Given the description of an element on the screen output the (x, y) to click on. 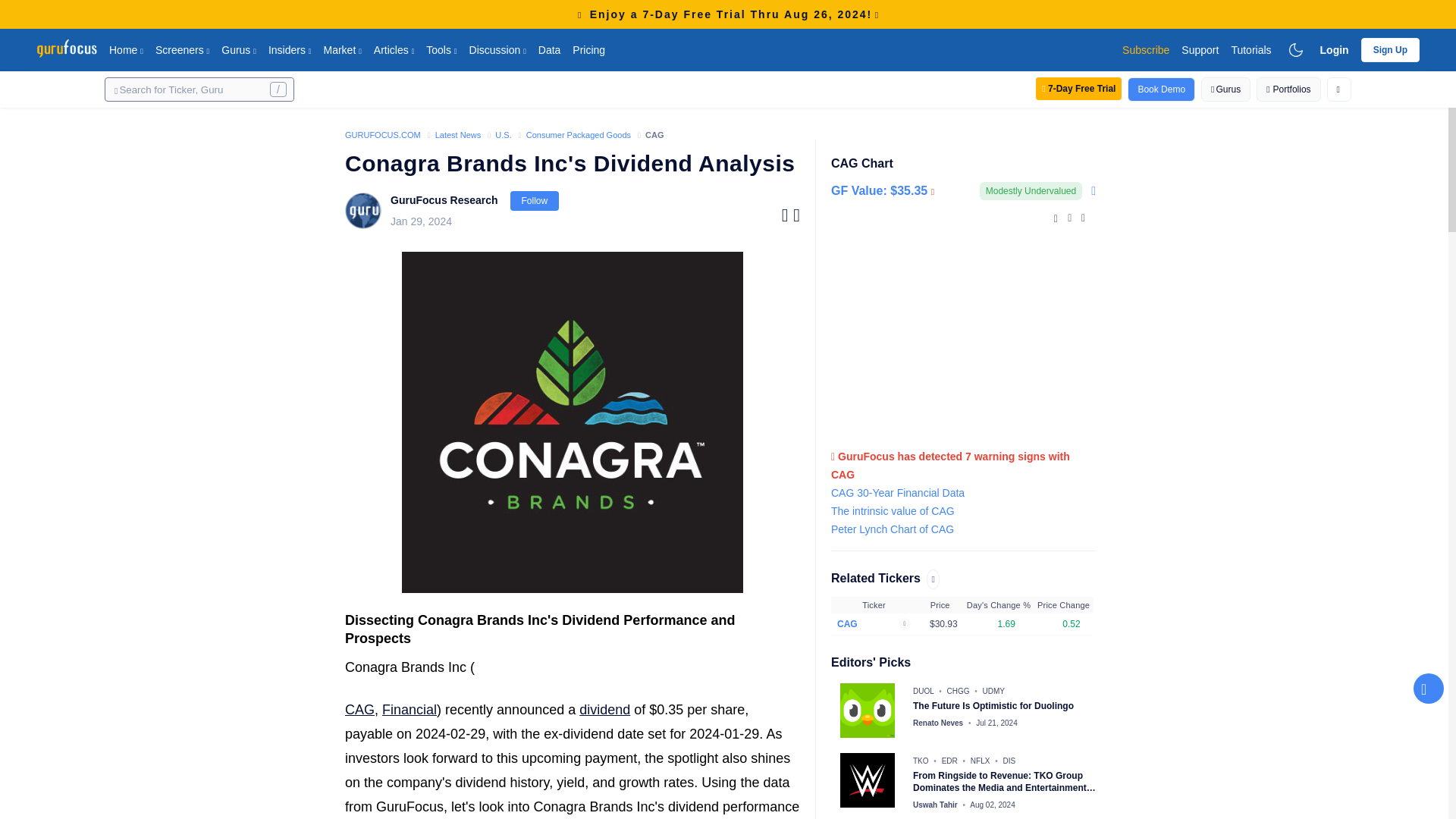
Login (1334, 49)
Screeners (182, 49)
Home (126, 49)
Chat Support (1428, 688)
Sign Up (1390, 49)
Sign Up (1390, 49)
